Given the description of an element on the screen output the (x, y) to click on. 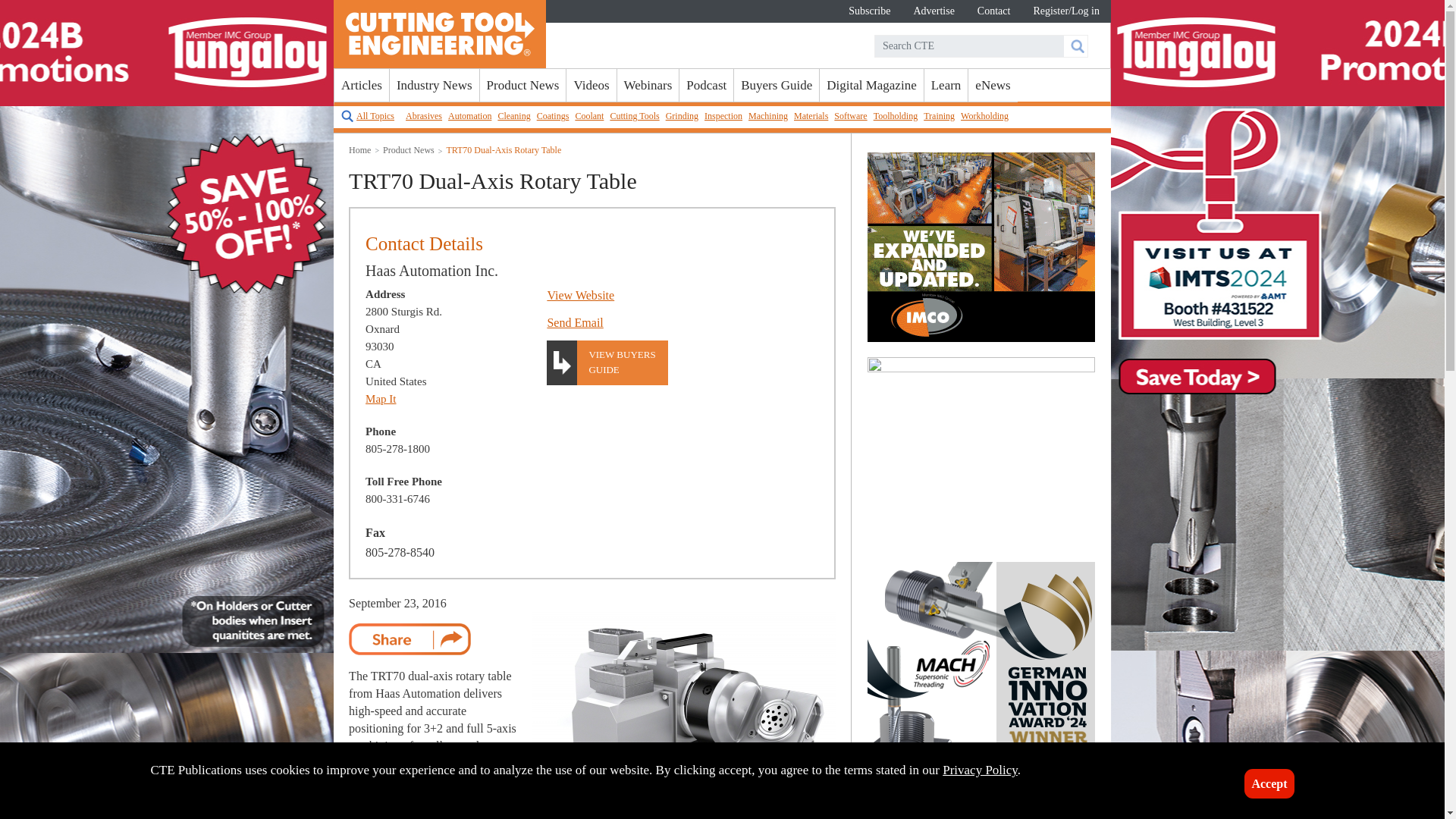
Advertise (933, 11)
Podcast (706, 84)
Subscribe (869, 11)
Contact (994, 11)
Home (439, 33)
Product News (523, 84)
Privacy Policy (979, 769)
Accept (1269, 783)
Search (1074, 46)
Webinars (648, 84)
Videos (590, 84)
Industry News (434, 84)
Buyers Guide (775, 84)
Expand menu Industry News (434, 84)
Articles (361, 84)
